Given the description of an element on the screen output the (x, y) to click on. 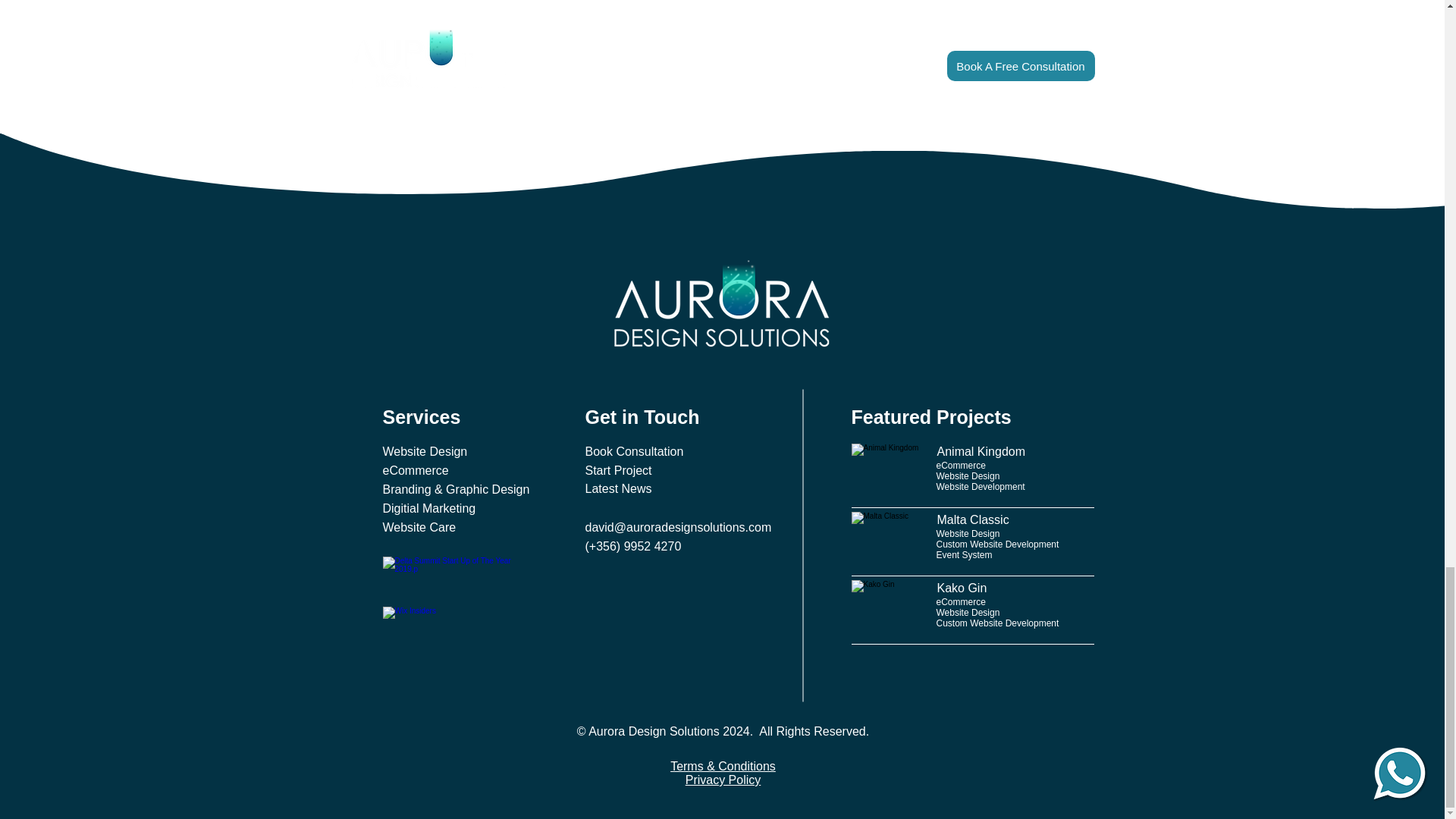
Website Care (418, 527)
eCommerce (414, 470)
Malta Classic Mockup.png (886, 538)
Website Design (424, 452)
Kako Gin Mockup.png (886, 606)
Digitial Marketing (428, 508)
Animal Kingdom Mockuo.png (886, 470)
